Given the description of an element on the screen output the (x, y) to click on. 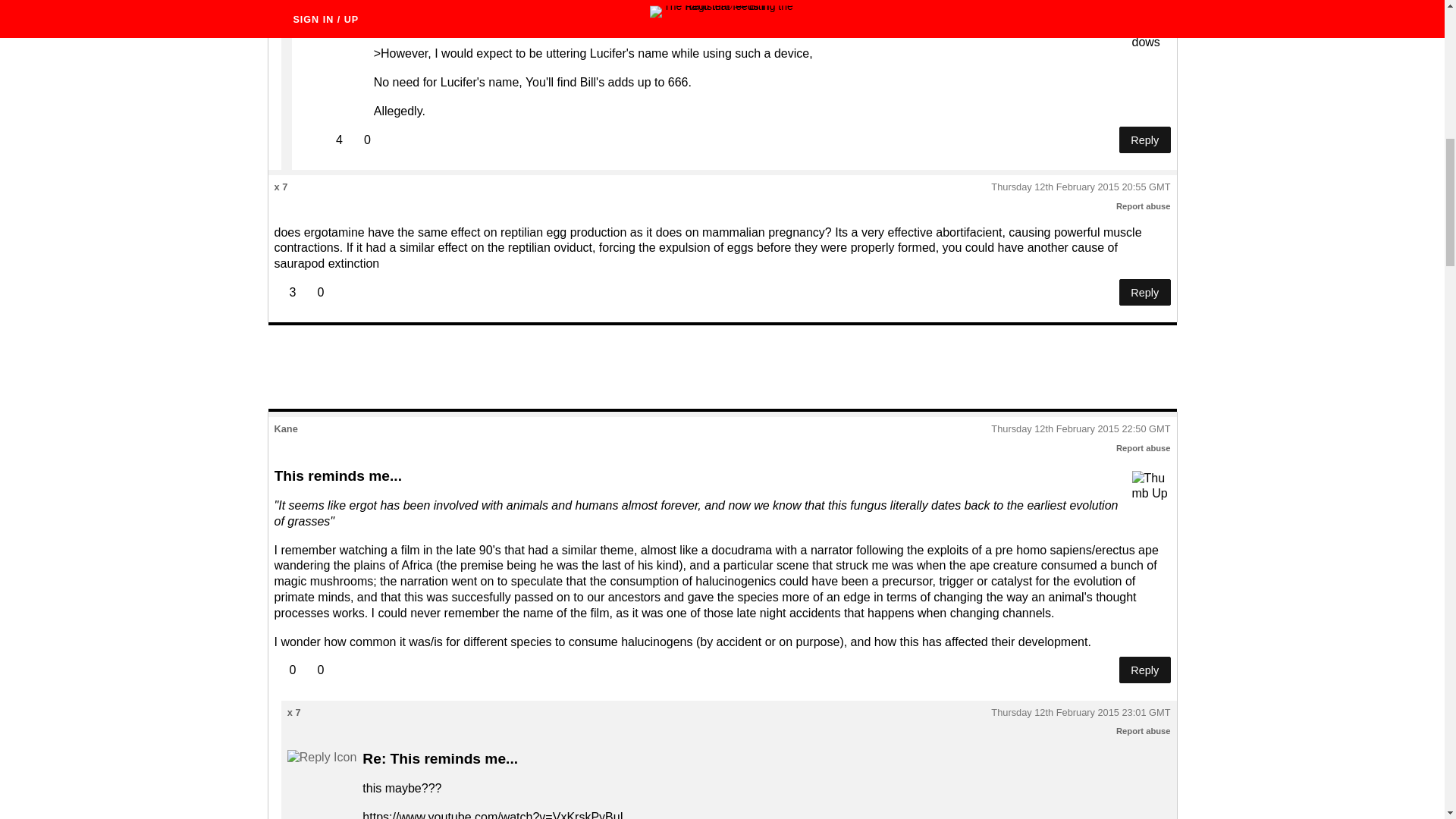
Report abuse (1143, 0)
Report abuse (1143, 447)
Report abuse (1143, 205)
Report abuse (1143, 730)
